Given the description of an element on the screen output the (x, y) to click on. 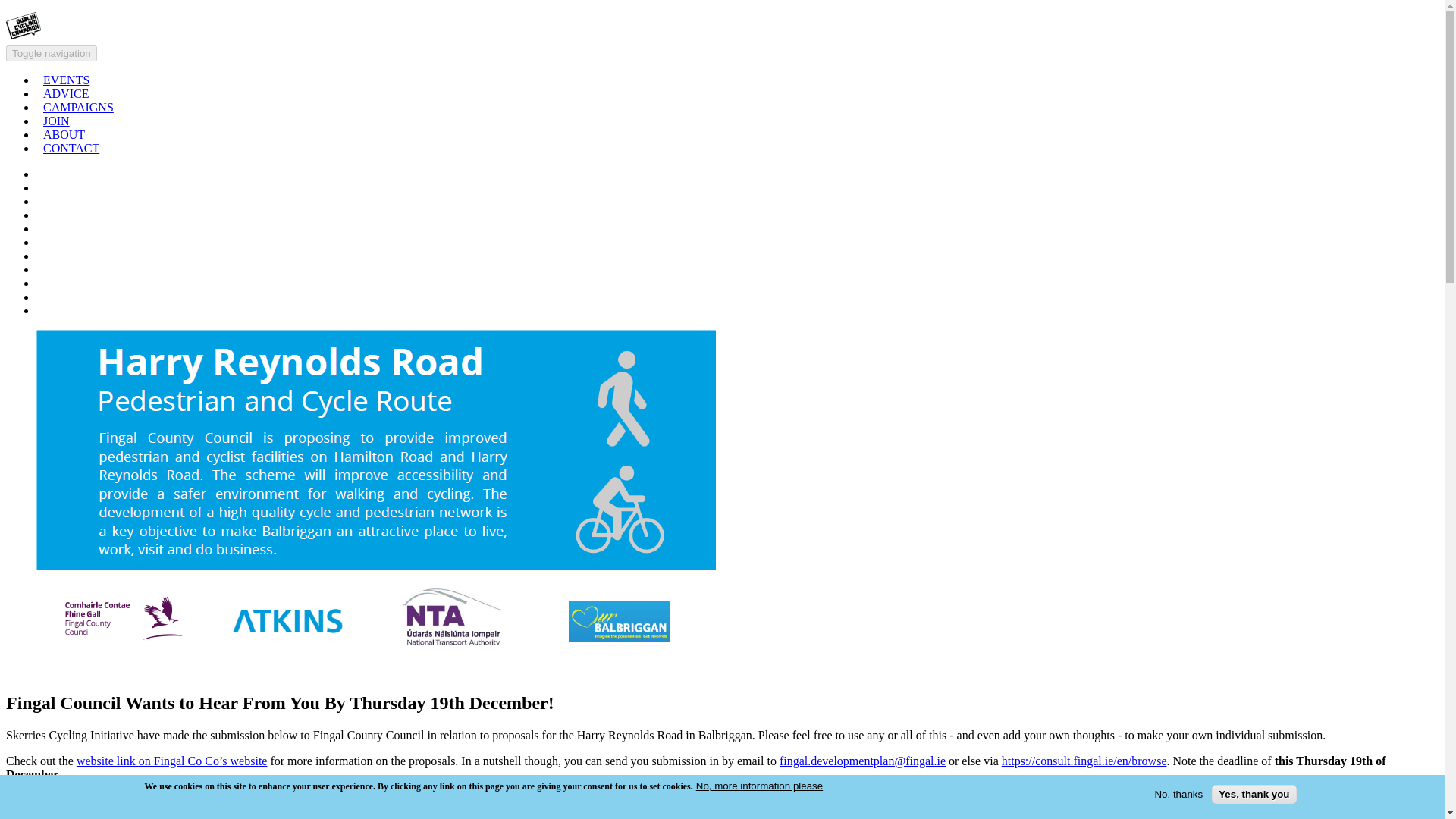
Search this website (42, 295)
Facebook (42, 187)
Sitemap (42, 282)
Mailchimp Newsletter Archive (42, 241)
CONTACT (71, 147)
EVENTS (66, 78)
Youtube (42, 227)
Instagram (42, 200)
Toggle navigation (51, 53)
Twitter (42, 173)
CAMPAIGNS (78, 106)
ABOUT (63, 133)
Flickr (42, 255)
ADVICE (66, 92)
